Given the description of an element on the screen output the (x, y) to click on. 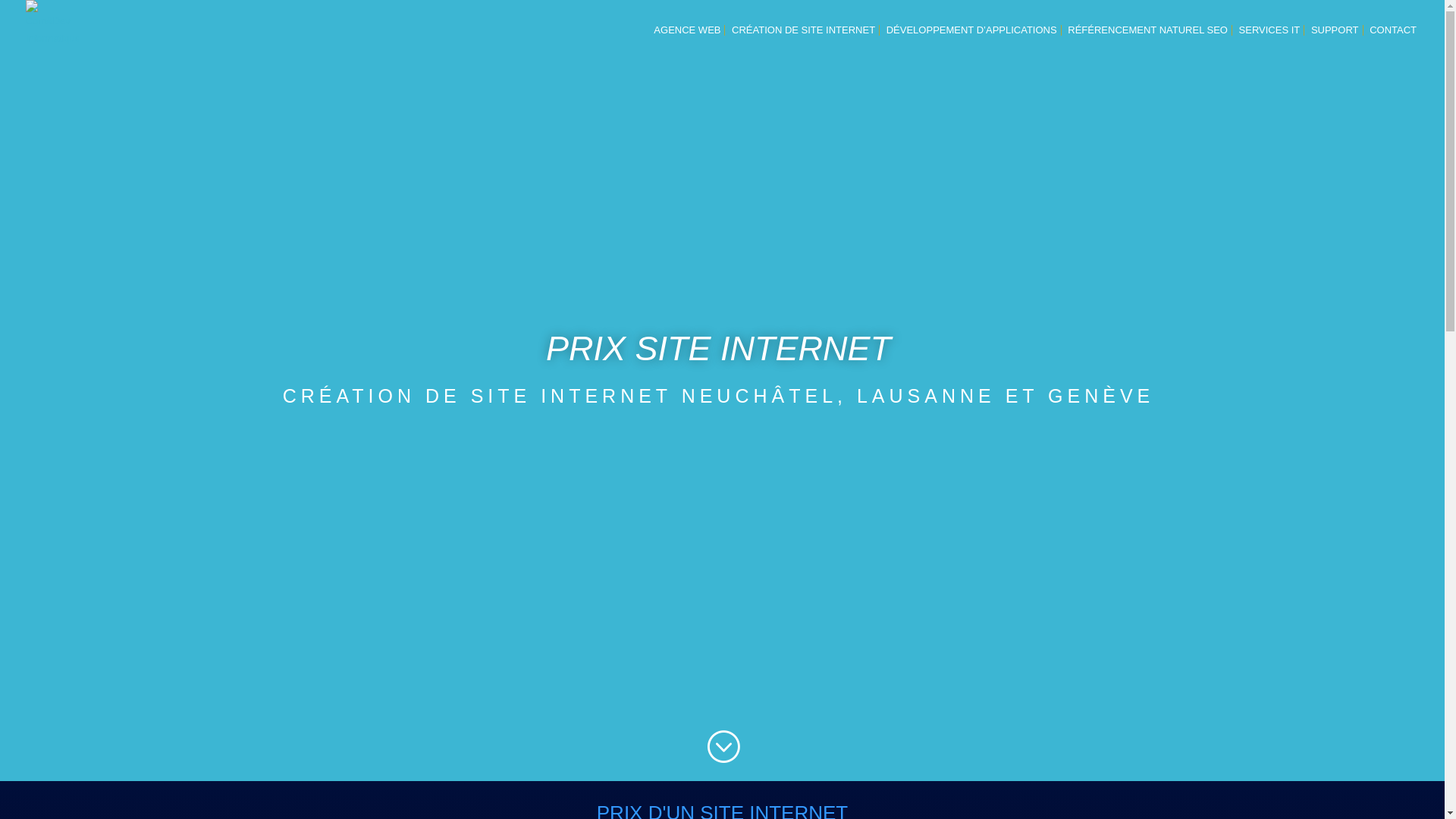
SUPPORT Element type: text (1334, 42)
; Element type: text (722, 746)
AGENCE WEB Element type: text (686, 42)
SERVICES IT Element type: text (1269, 42)
CONTACT Element type: text (1392, 42)
